Given the description of an element on the screen output the (x, y) to click on. 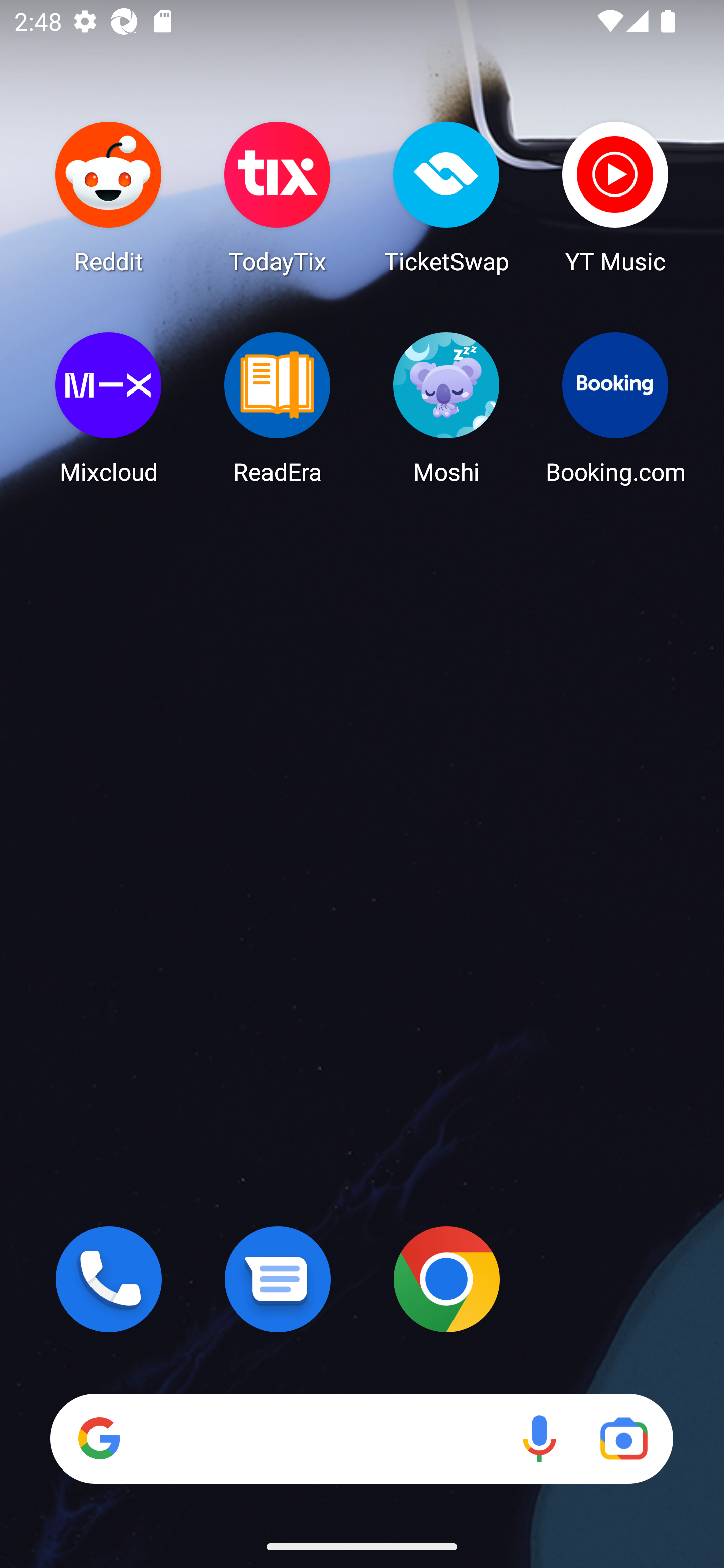
Reddit (108, 196)
TodayTix (277, 196)
TicketSwap (445, 196)
YT Music (615, 196)
Mixcloud (108, 407)
ReadEra (277, 407)
Moshi (445, 407)
Booking.com (615, 407)
Phone (108, 1279)
Messages (277, 1279)
Chrome (446, 1279)
Search Voice search Google Lens (361, 1438)
Voice search (539, 1438)
Google Lens (623, 1438)
